Given the description of an element on the screen output the (x, y) to click on. 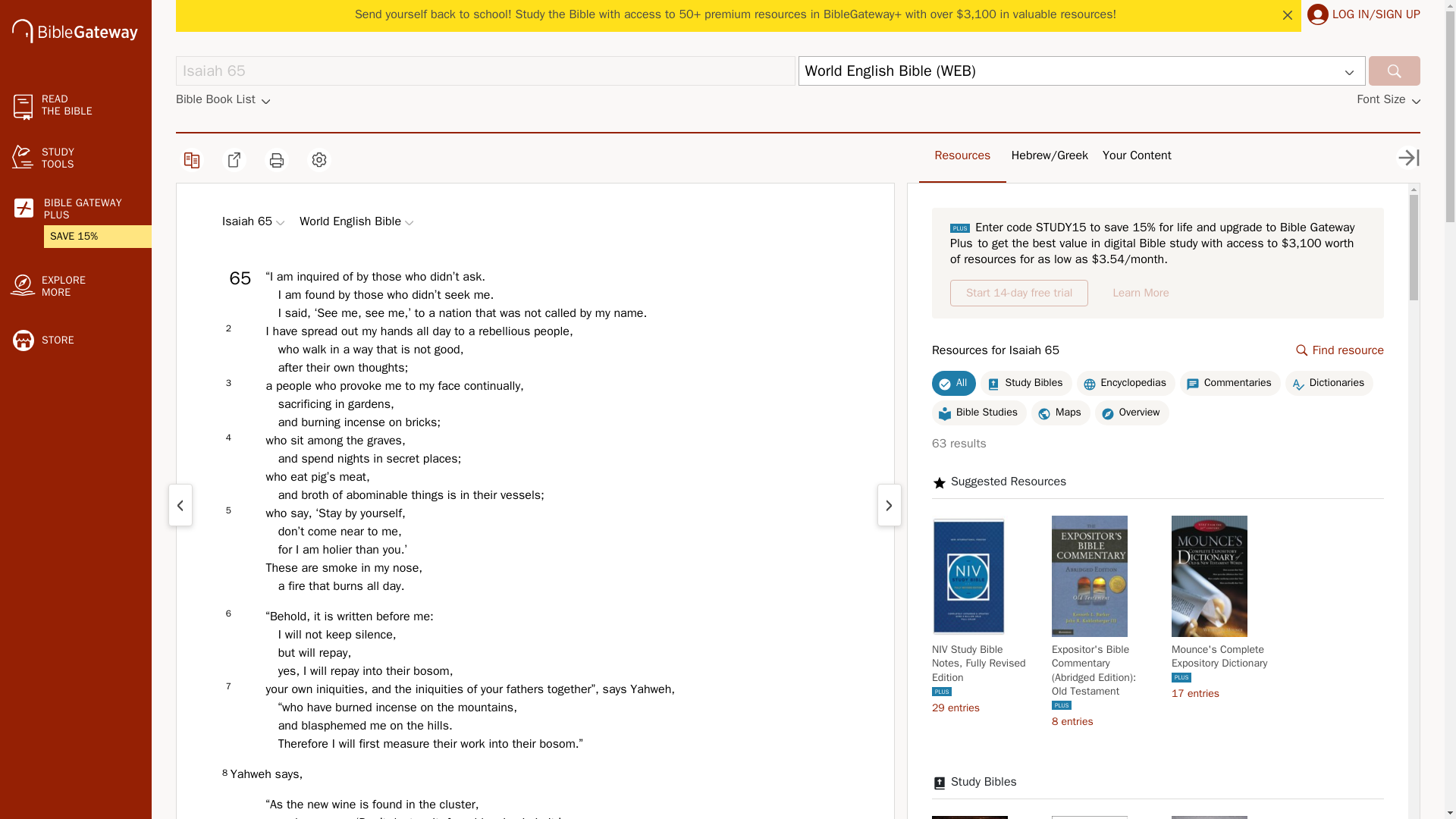
Start 14-day free trial (1019, 293)
Bible Book List (222, 99)
Isaiah 65 (485, 70)
Isaiah 65 (485, 70)
close (1287, 14)
Close Sidebar (1408, 157)
Resources (962, 155)
Search (1394, 70)
Bible Gateway logo (74, 32)
account (1317, 14)
